Given the description of an element on the screen output the (x, y) to click on. 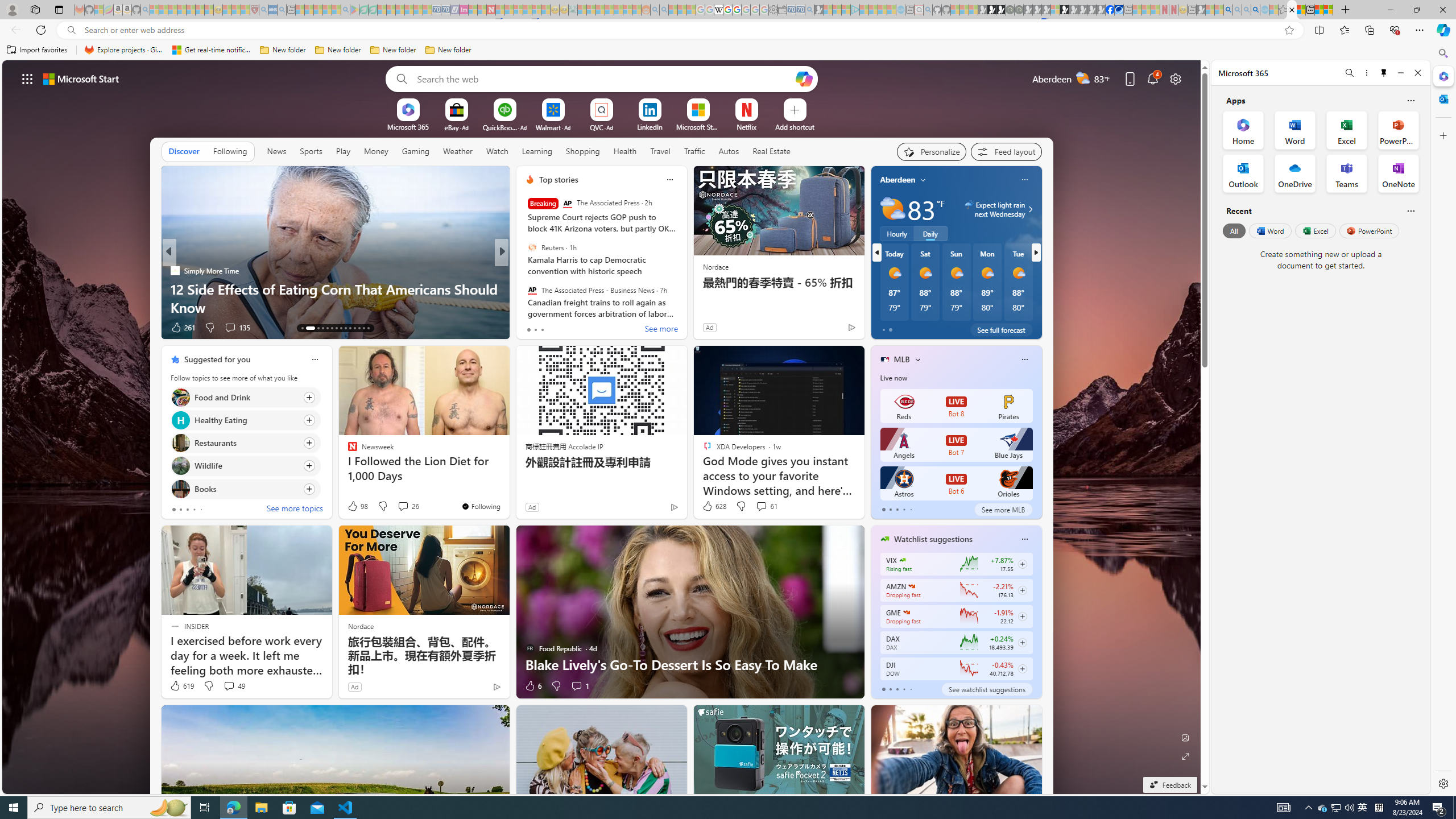
619 Like (181, 685)
Address and search bar (681, 29)
Import favorites (36, 49)
Target page - Wikipedia (718, 9)
See watchlist suggestions (986, 689)
Hourly (896, 233)
Open Copilot (803, 78)
App bar (728, 29)
View comments 2 Comment (576, 327)
Learning (537, 151)
PowerPoint Office App (1398, 129)
